Given the description of an element on the screen output the (x, y) to click on. 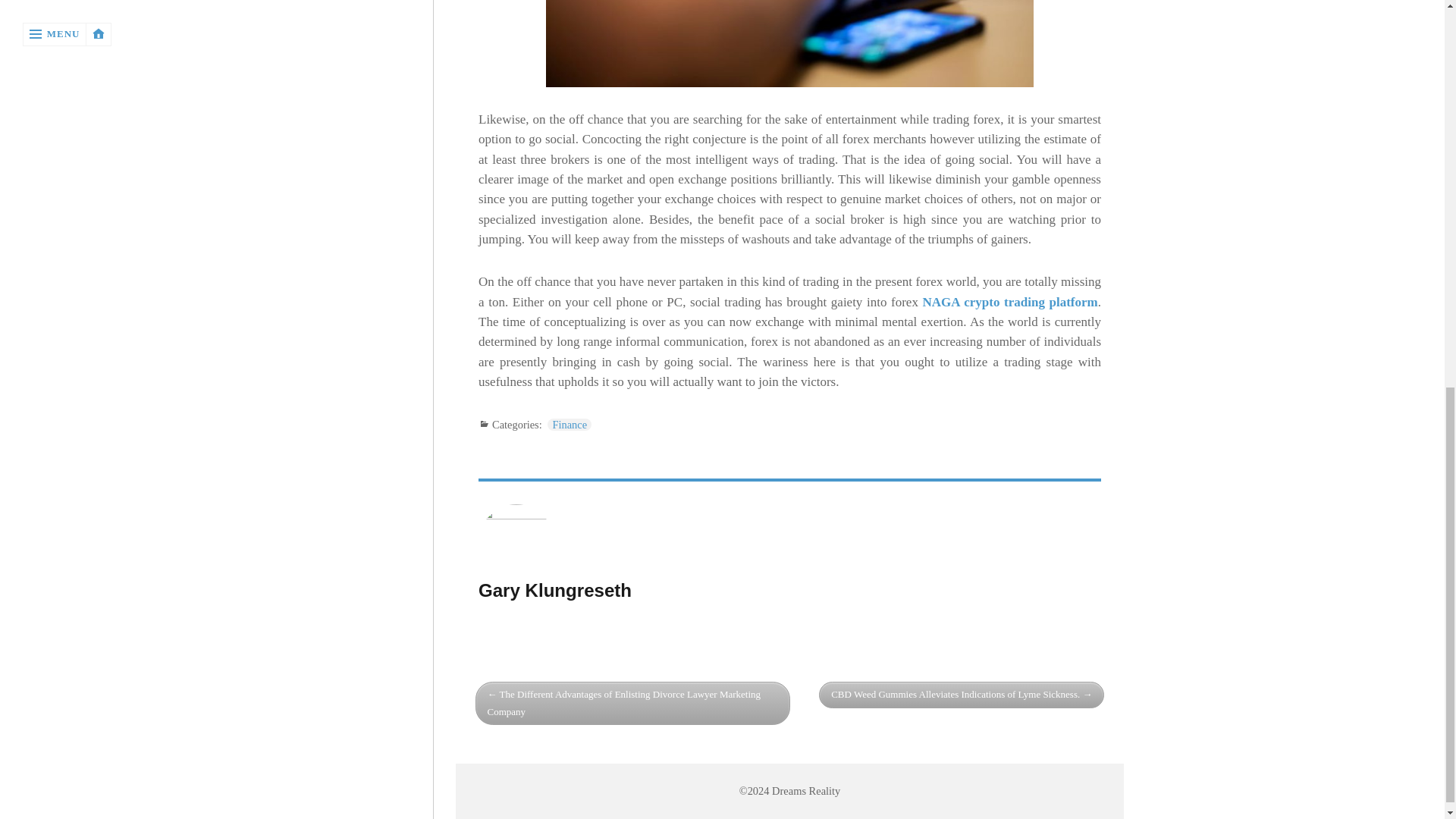
CBD Weed Gummies Alleviates Indications of Lyme Sickness. (960, 694)
NAGA crypto trading platform (1010, 301)
Finance (569, 424)
